Given the description of an element on the screen output the (x, y) to click on. 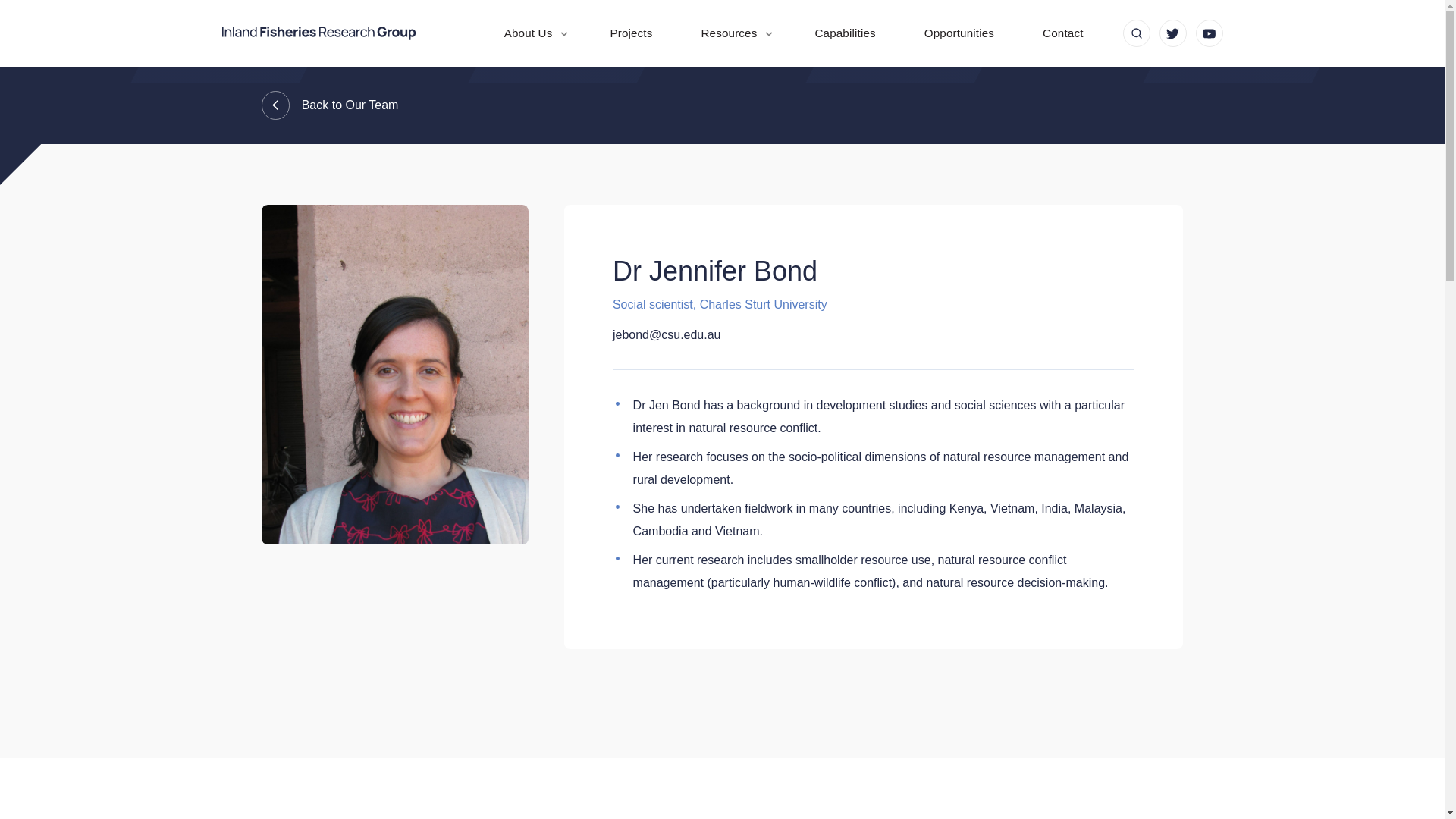
Resources (732, 33)
Back to Our Team (721, 104)
About Us (532, 33)
Capabilities (844, 33)
Projects (630, 33)
Opportunities (958, 33)
Contact (1062, 33)
